Given the description of an element on the screen output the (x, y) to click on. 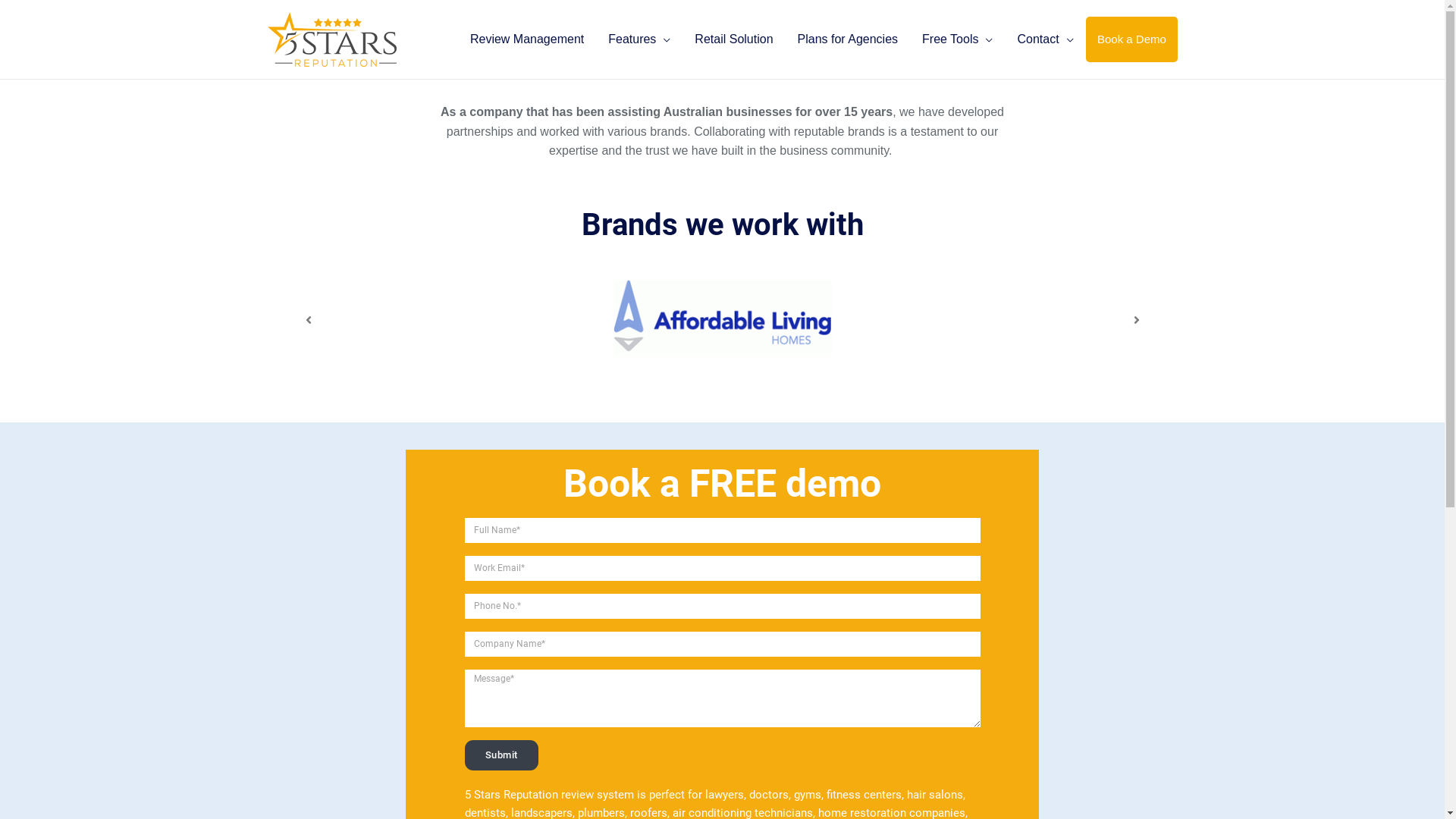
Contact Element type: text (1044, 39)
Plans for Agencies Element type: text (847, 39)
Free Tools Element type: text (957, 39)
Features Element type: text (639, 39)
Review Management Element type: text (527, 39)
Retail Solution Element type: text (733, 39)
Book a Demo Element type: text (1131, 39)
Submit Element type: text (500, 755)
